Given the description of an element on the screen output the (x, y) to click on. 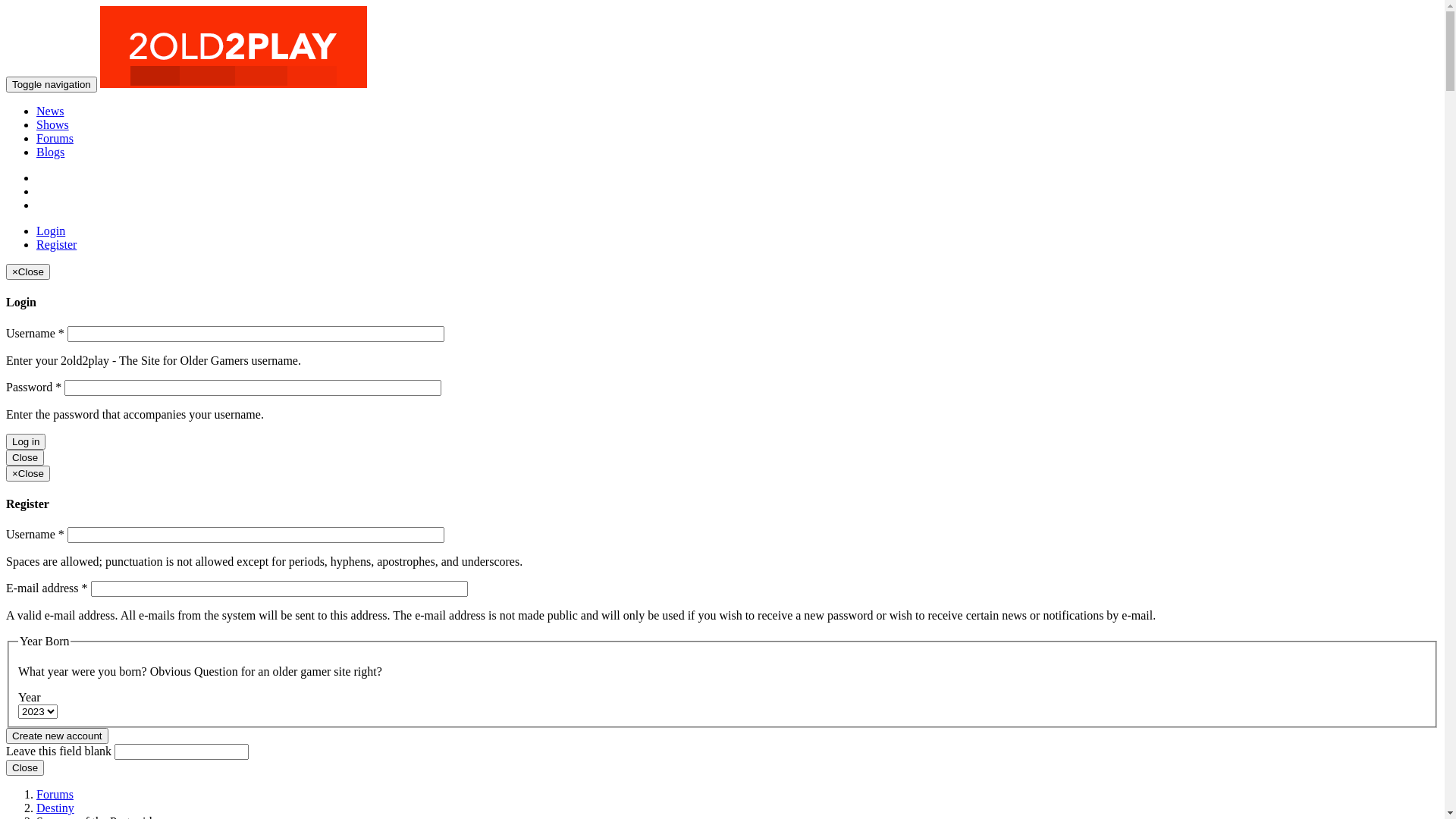
Skip to main content Element type: text (56, 6)
Create new account Element type: text (57, 735)
Toggle navigation Element type: text (51, 84)
Close Element type: text (24, 767)
Blogs Element type: text (50, 151)
Shows Element type: text (52, 124)
Home Element type: hover (233, 83)
Log in Element type: text (25, 441)
Forums Element type: text (54, 137)
Destiny Element type: text (55, 807)
News Element type: text (49, 110)
Register Element type: text (56, 244)
Forums Element type: text (54, 793)
Login Element type: text (50, 230)
Close Element type: text (24, 457)
